Given the description of an element on the screen output the (x, y) to click on. 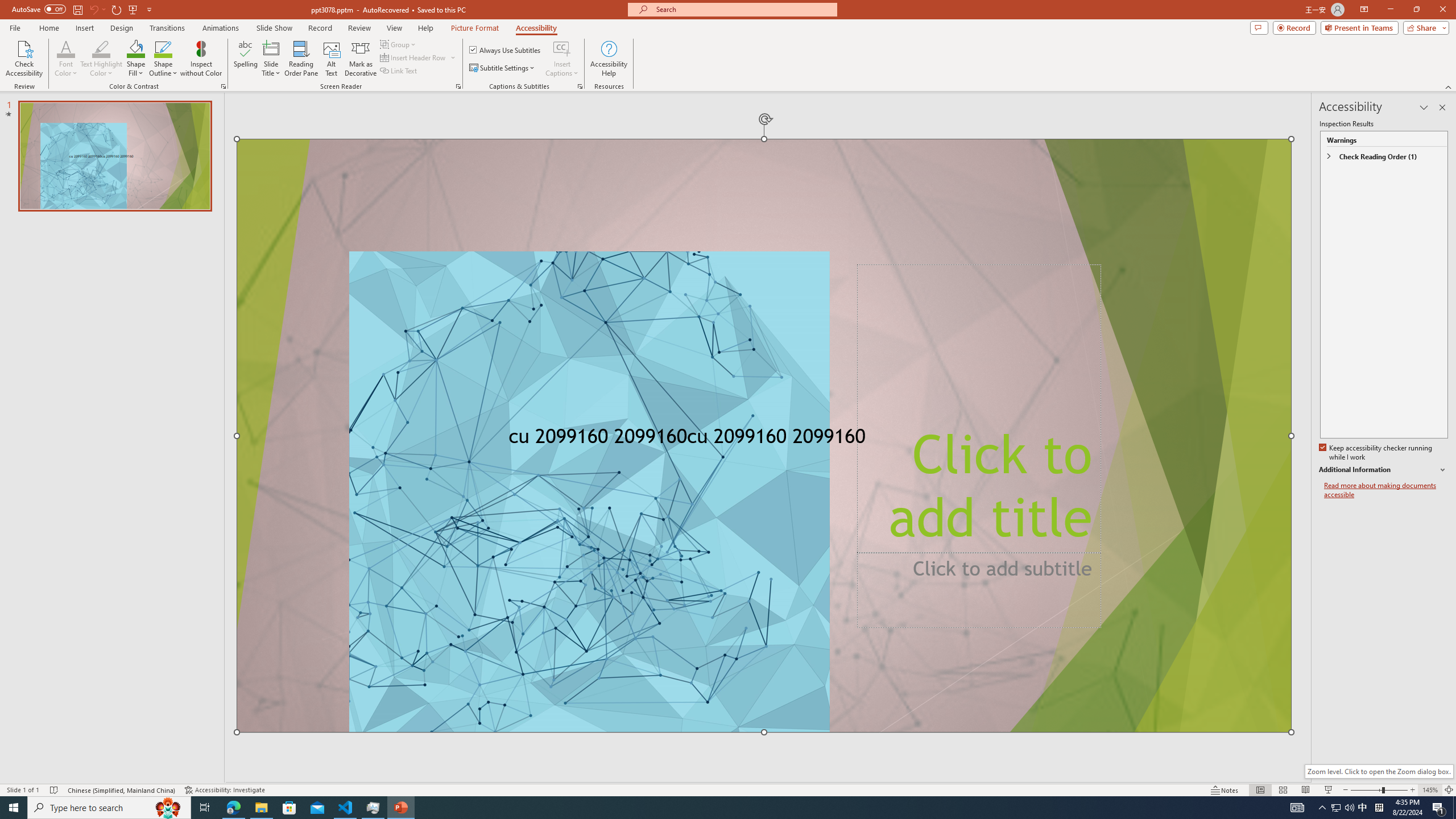
Zoom 145% (1430, 790)
Insert Captions (561, 48)
Shape Fill Dark Green, Accent 2 (135, 48)
Spelling... (245, 58)
Slide Title (271, 58)
Alt Text (331, 58)
